Given the description of an element on the screen output the (x, y) to click on. 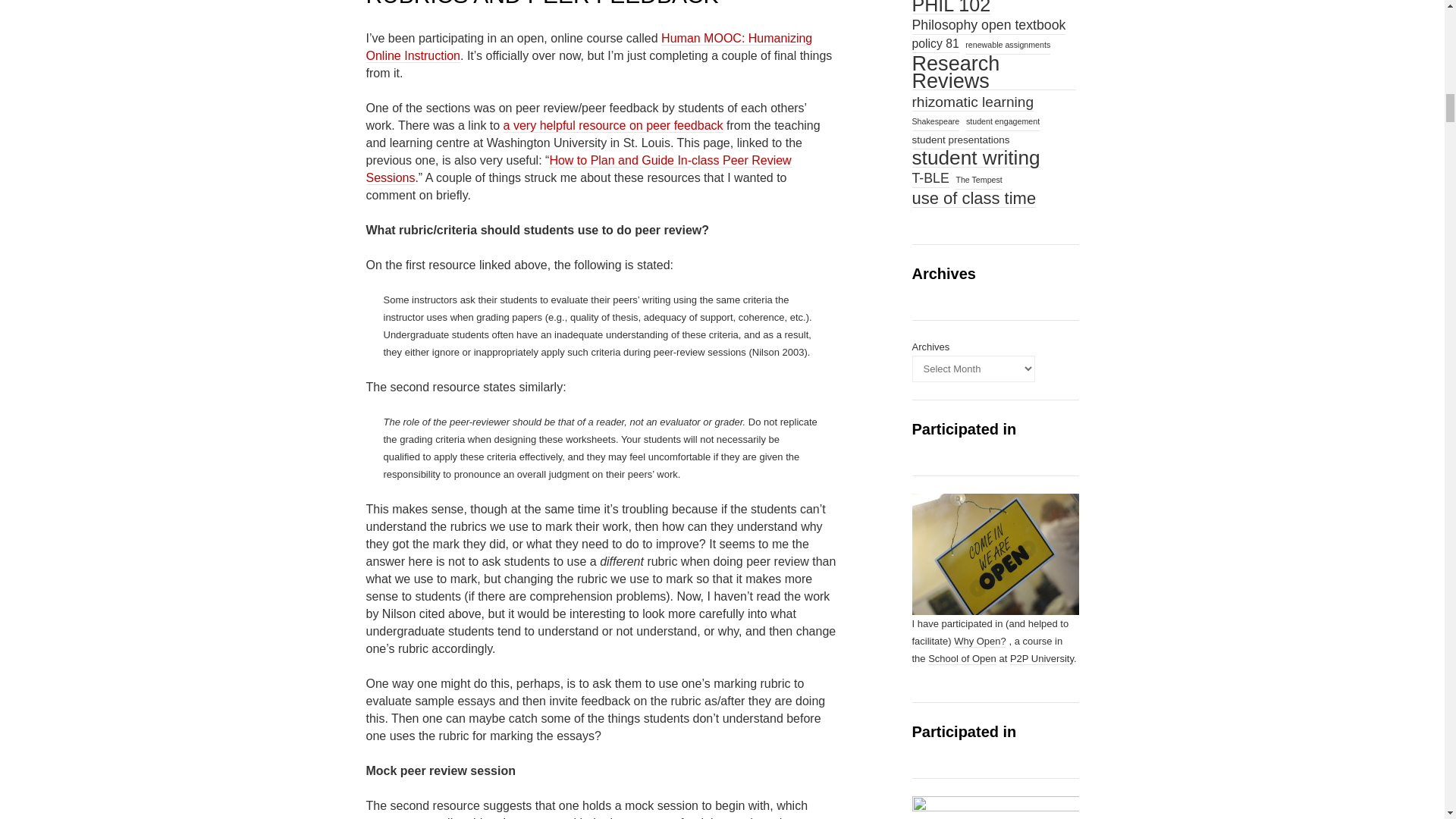
Using Peer Review to help students improve writing (613, 125)
How to Plan and Guide In-class Peer Review Sessions (577, 169)
Human MOOC: Humanizing Online Instruction (588, 47)
RUBRICS AND PEER FEEDBACK (541, 3)
a very helpful resource on peer feedback (613, 125)
